Given the description of an element on the screen output the (x, y) to click on. 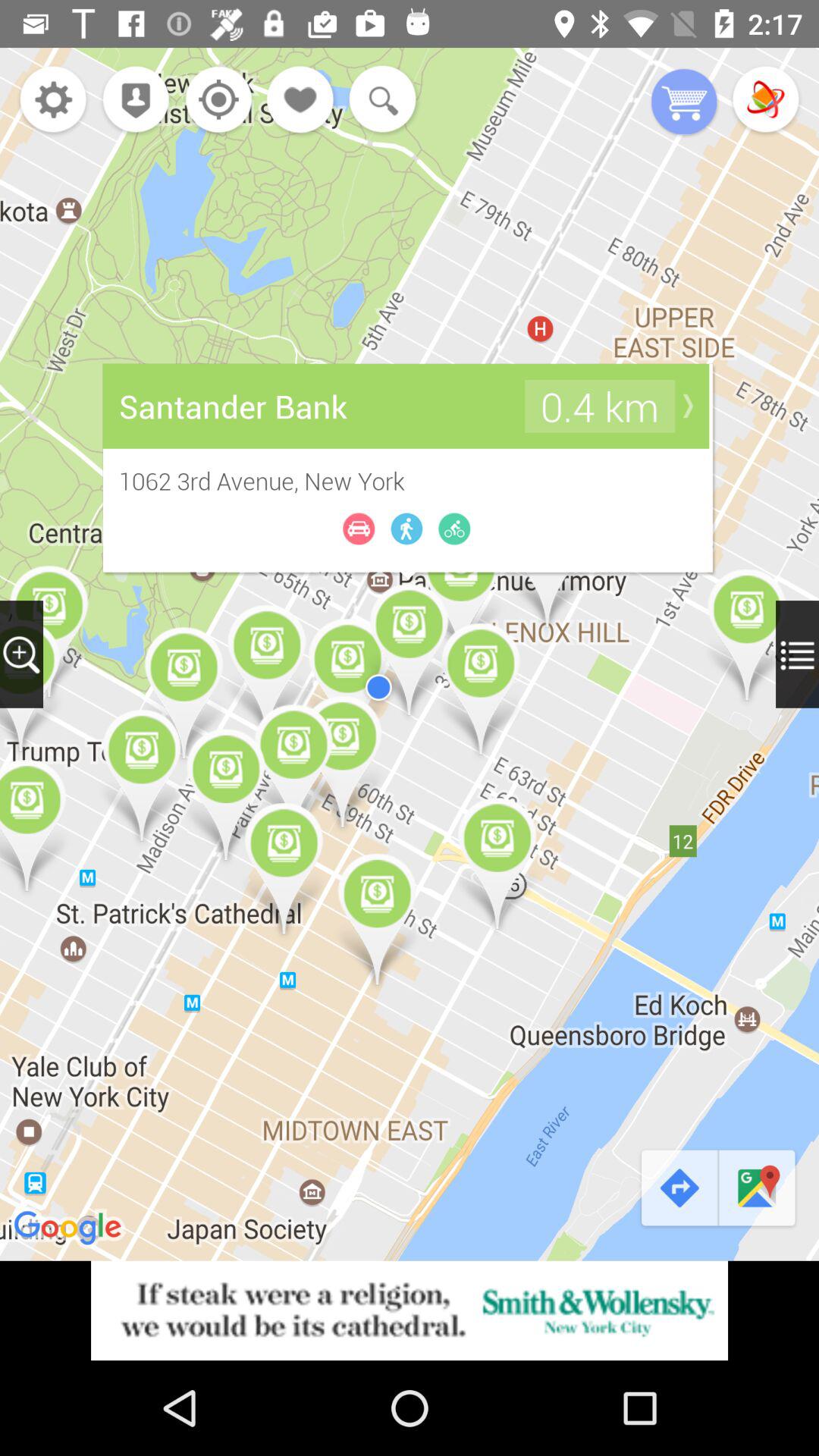
navigate my location button (214, 101)
